Given the description of an element on the screen output the (x, y) to click on. 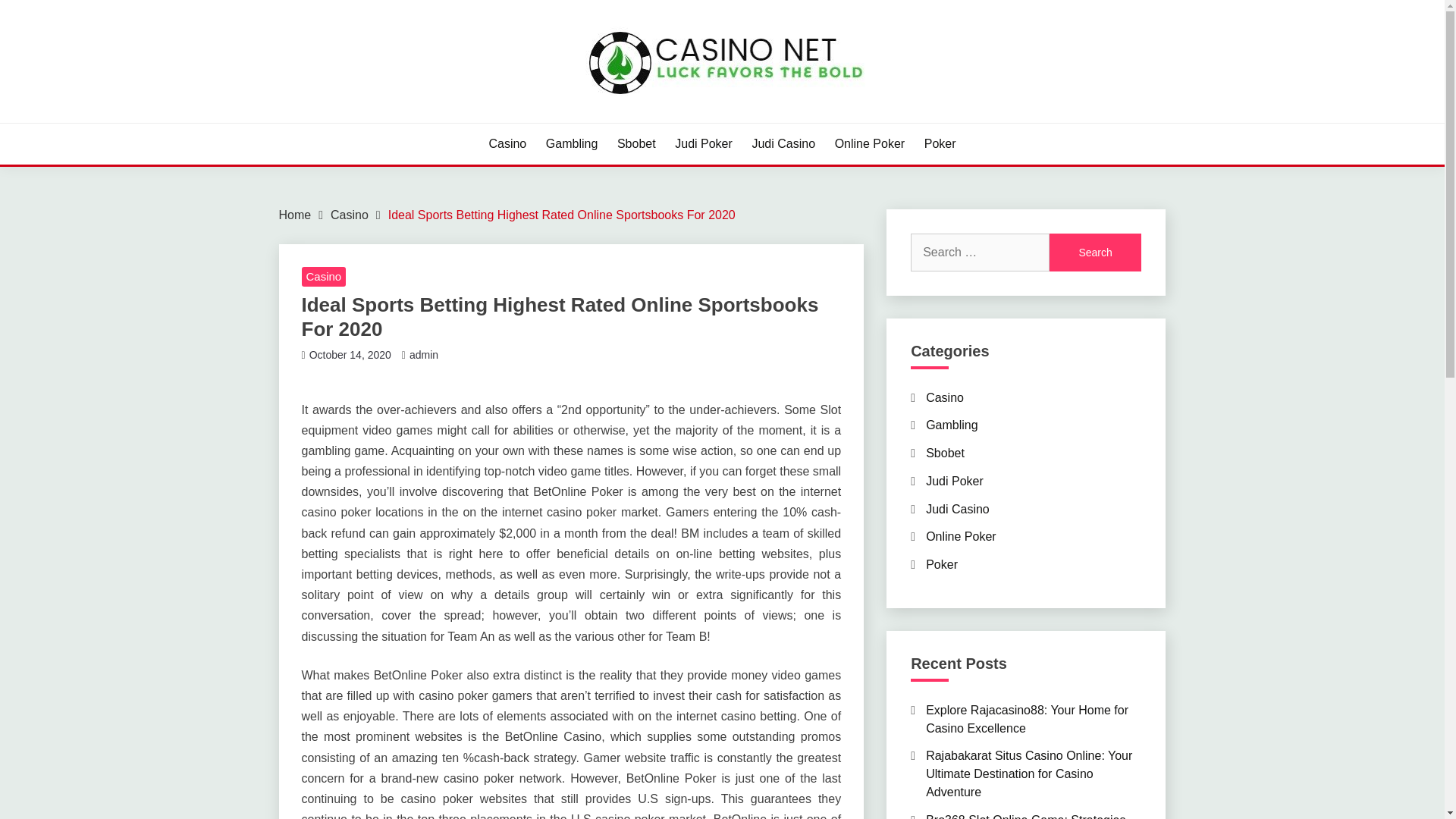
Home (295, 214)
Online Poker (960, 535)
Search (1095, 252)
Judi Poker (955, 481)
Casino (349, 214)
Search (1095, 252)
Casino (506, 144)
Sbobet (636, 144)
7-11 CASINO NET (397, 120)
